Given the description of an element on the screen output the (x, y) to click on. 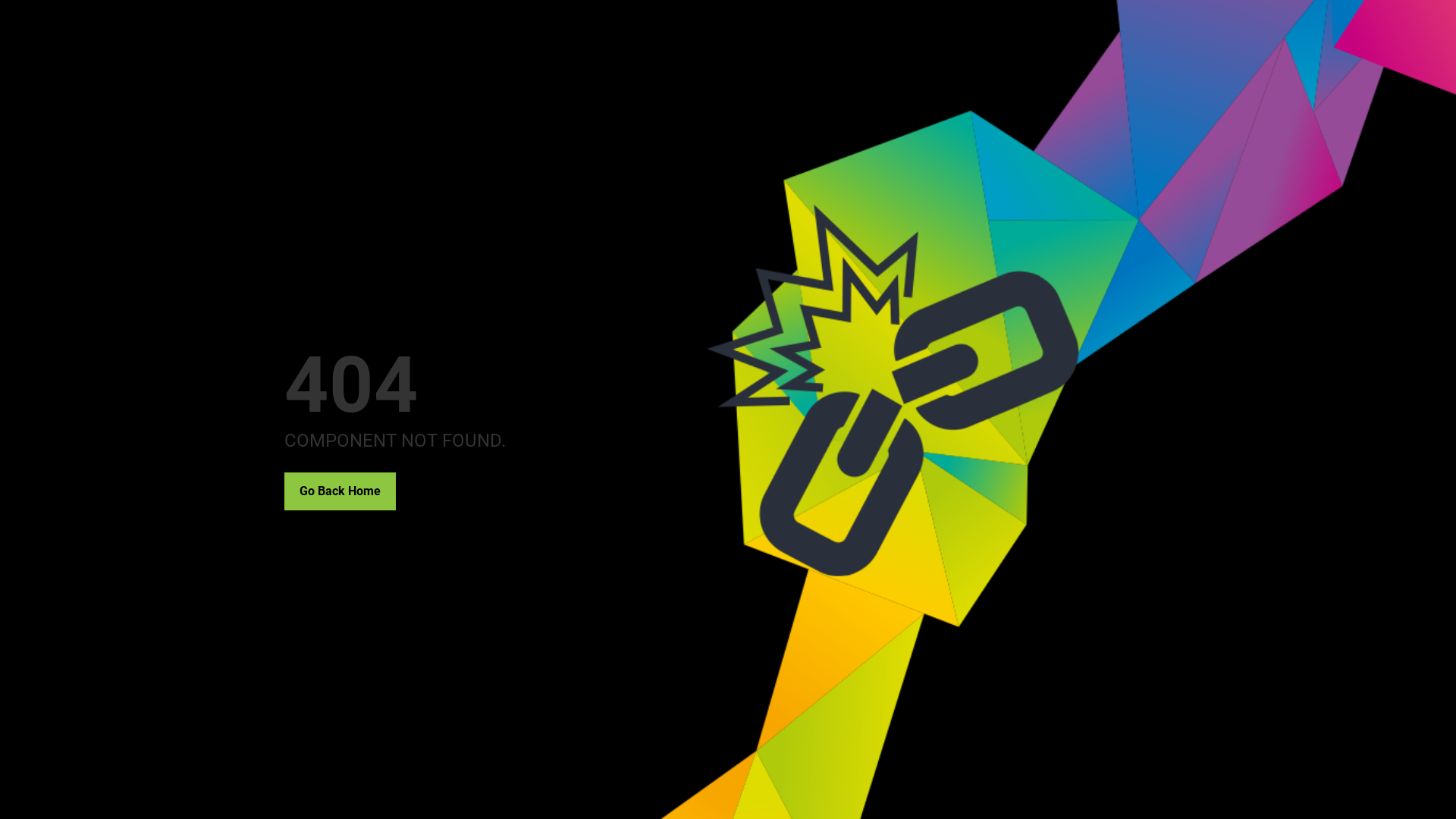
Go Back Home Element type: text (339, 490)
